Given the description of an element on the screen output the (x, y) to click on. 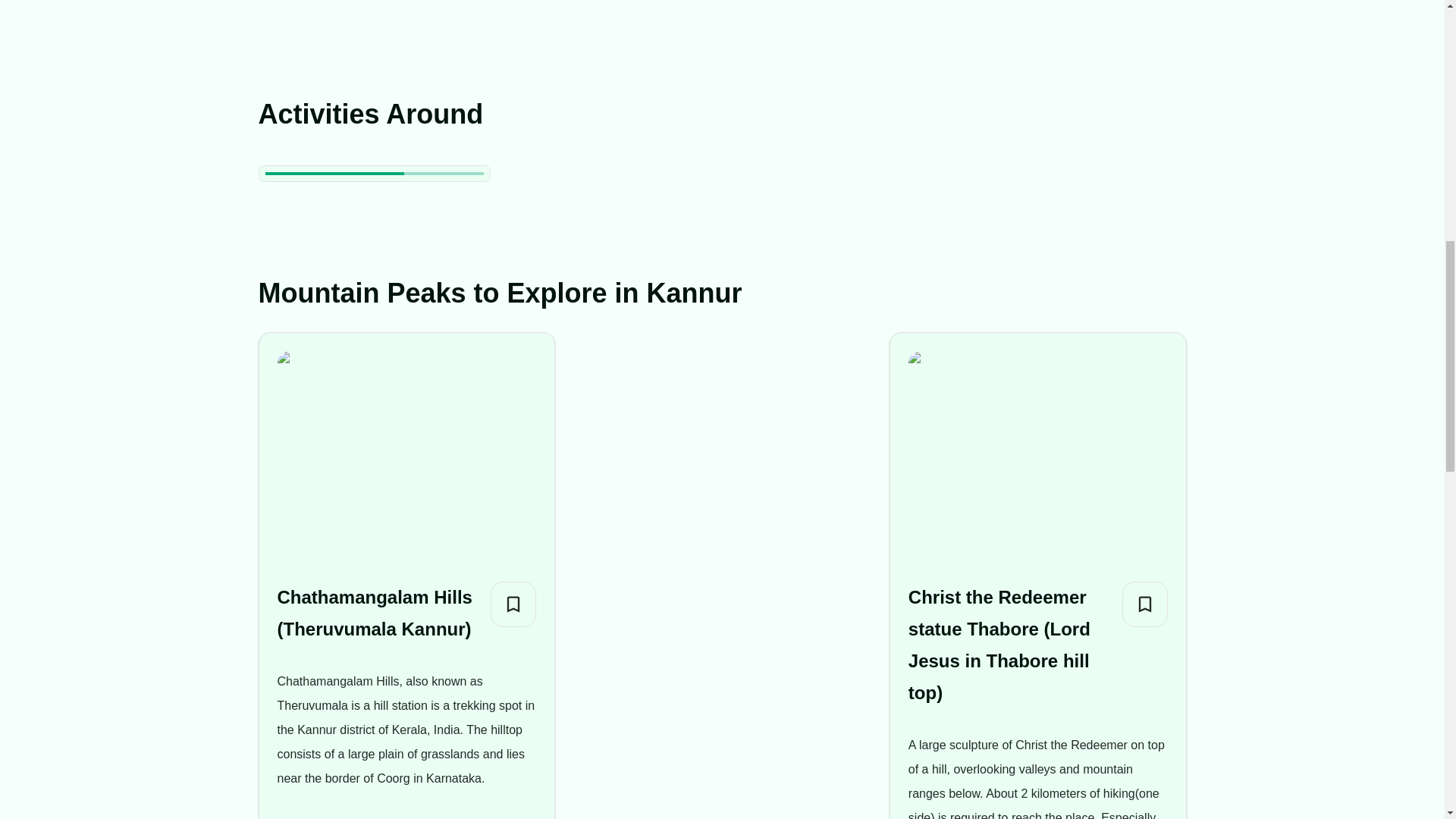
Add to Bucket List (512, 604)
Add to Bucket List (1144, 604)
